Given the description of an element on the screen output the (x, y) to click on. 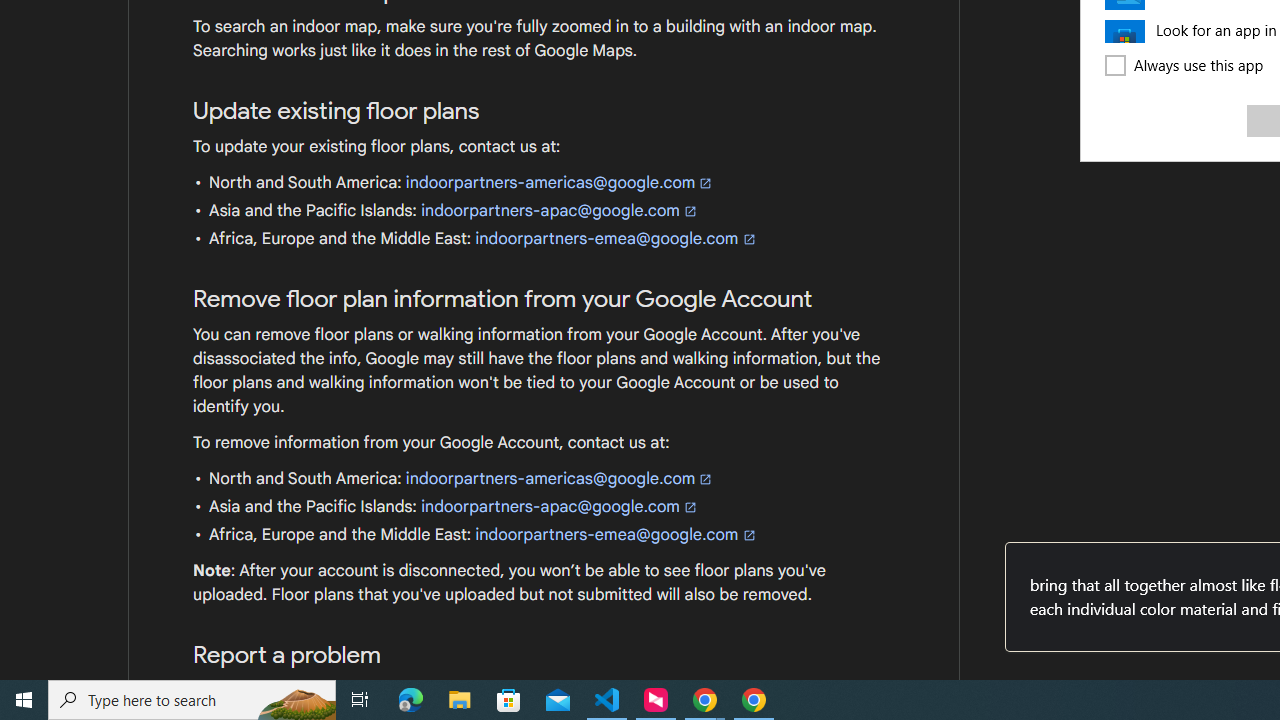
Microsoft Store (509, 699)
indoorpartners-americas@google.com (559, 478)
Google Chrome - 3 running windows (704, 699)
indoorpartners-emea@google.com (616, 534)
indoorpartners-apac@google.com (560, 506)
Type here to search (191, 699)
Start (24, 699)
Microsoft Edge (411, 699)
Search highlights icon opens search home window (295, 699)
File Explorer (460, 699)
Visual Studio Code - 1 running window (607, 699)
Task View (359, 699)
